Given the description of an element on the screen output the (x, y) to click on. 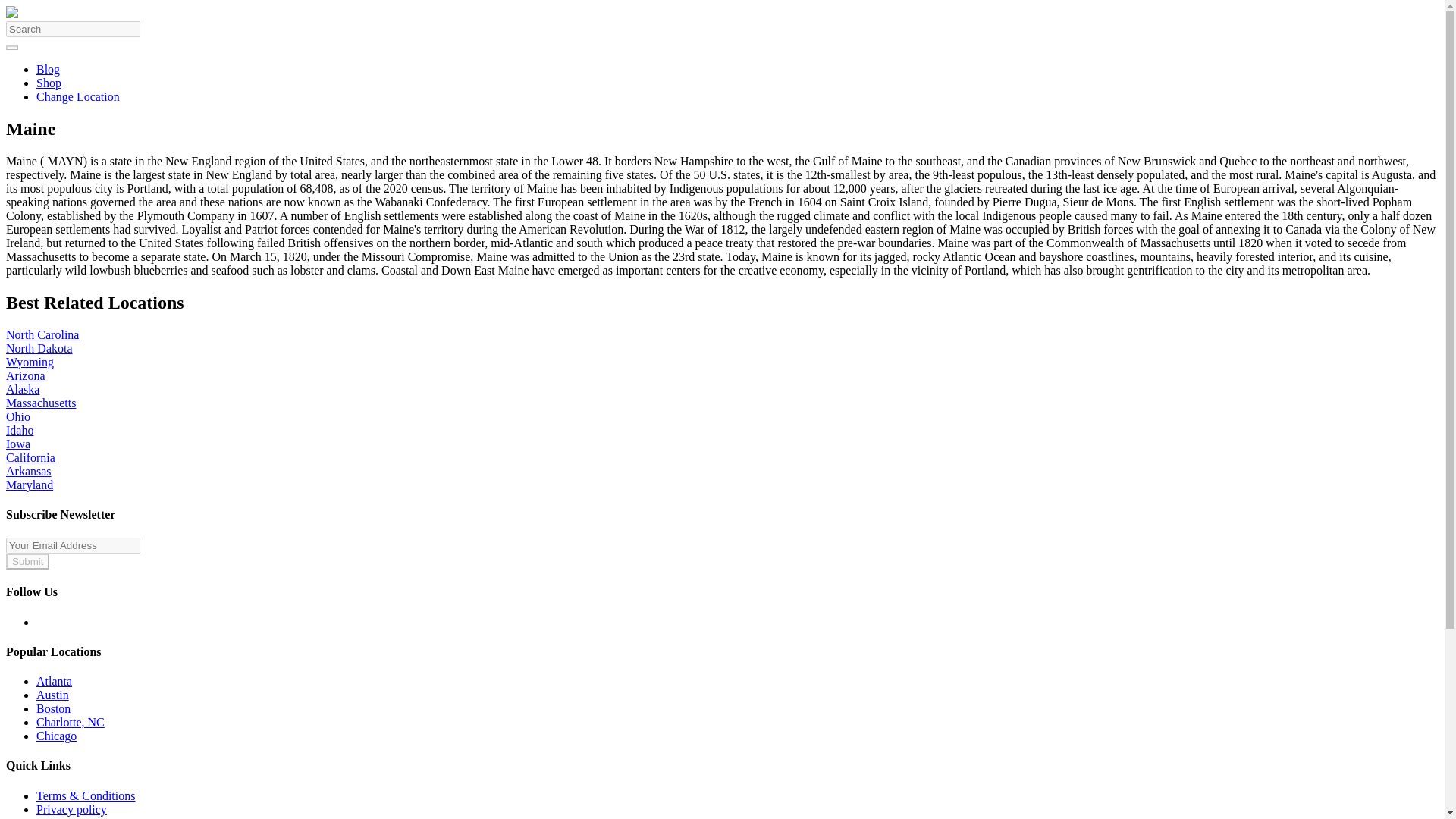
Massachusetts (40, 402)
Maryland (28, 484)
North Carolina (41, 334)
Shop (48, 82)
Blog (47, 69)
Ohio (17, 416)
Submit (27, 561)
Arkansas (27, 471)
California (30, 457)
North Dakota (38, 348)
